Given the description of an element on the screen output the (x, y) to click on. 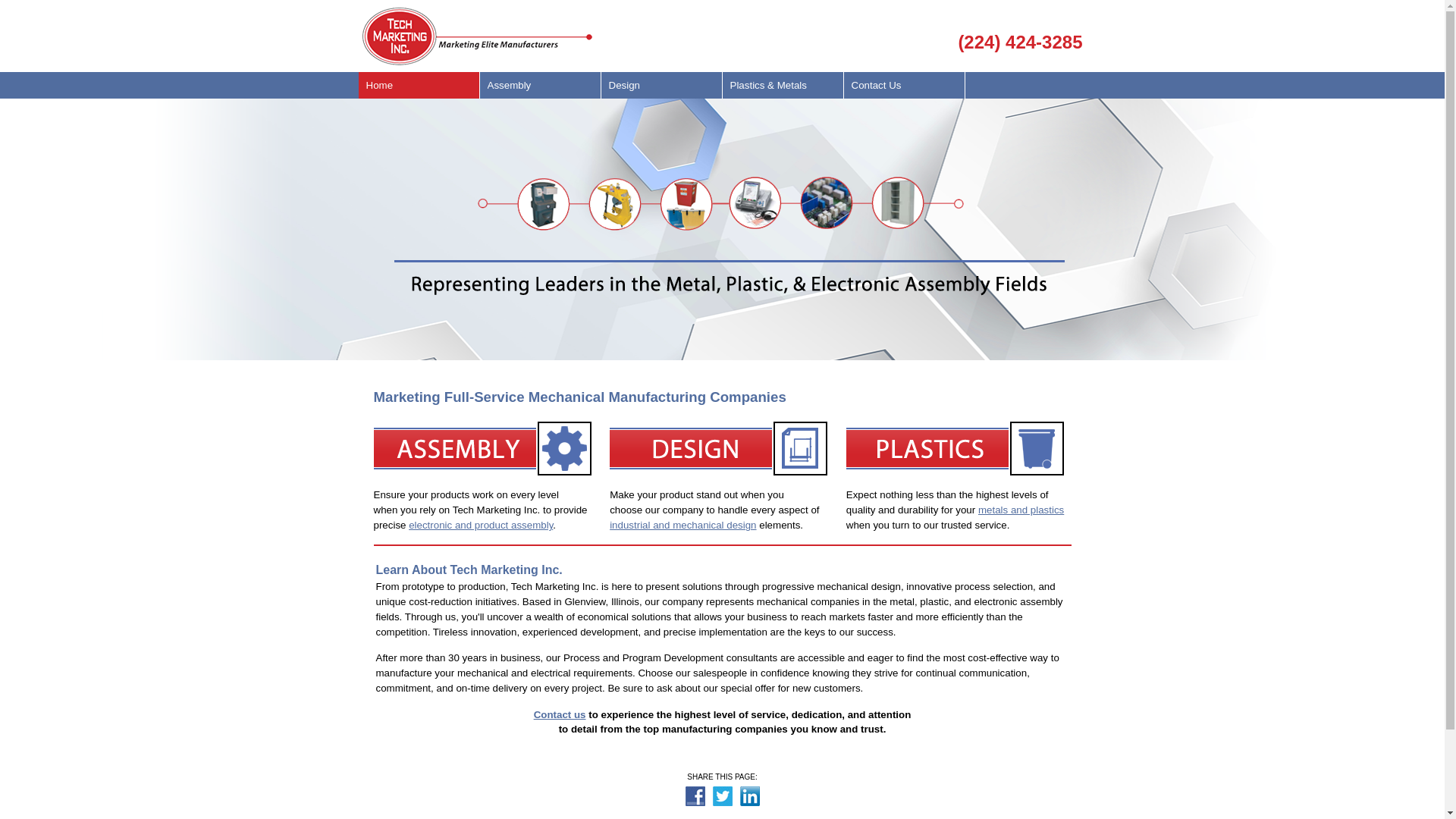
Plans Icon Element type: hover (720, 448)
Home Element type: text (418, 85)
metals and plastics Element type: text (1020, 509)
Assembly Element type: text (539, 85)
Plastic Bin Icon Element type: hover (956, 448)
Contact us Element type: text (559, 713)
Contact Us Element type: text (903, 85)
Plastics & Metals Element type: text (782, 85)
Gear Icon Element type: hover (483, 448)
Design Element type: text (660, 85)
industrial and mechanical design Element type: text (714, 532)
electronic and product assembly Element type: text (480, 524)
Logo, Tech Marketing Inc. Element type: hover (477, 36)
